Given the description of an element on the screen output the (x, y) to click on. 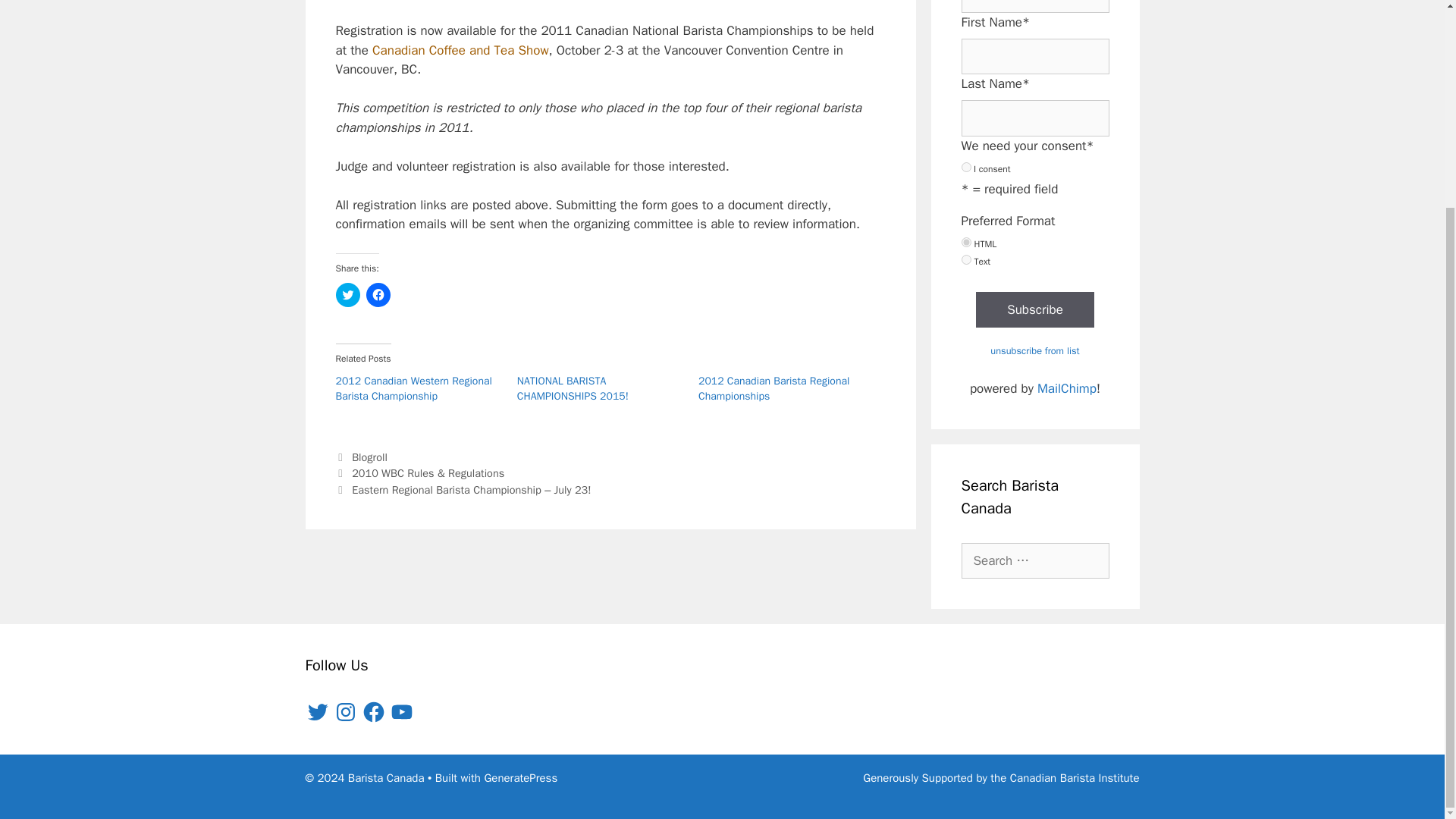
I consent (965, 166)
Canadian Coffee and Tea Show (460, 50)
unsubscribe from list (1034, 350)
Click to share on Facebook (377, 294)
Subscribe (1034, 309)
html (965, 242)
2012 Canadian Barista Regional Championships (773, 388)
Search for: (1034, 560)
Twitter (316, 711)
text (965, 259)
2012 Canadian Western Regional Barista Championship (413, 388)
Blogroll (369, 457)
MailChimp (1066, 388)
Subscribe (1034, 309)
Click to share on Twitter (346, 294)
